Given the description of an element on the screen output the (x, y) to click on. 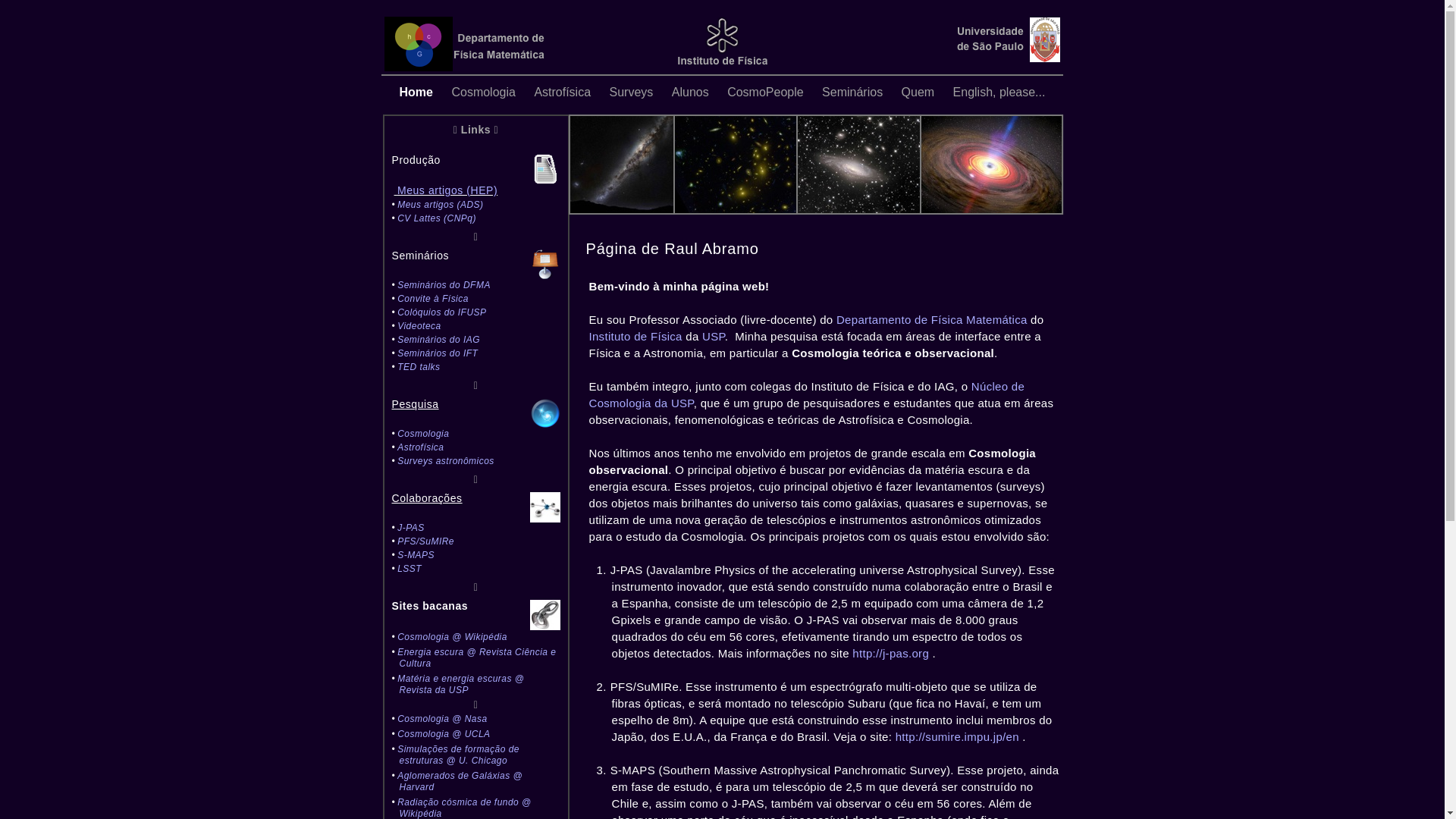
Quem Element type: text (919, 91)
USP Element type: text (713, 335)
http://sumire.impu.jp/en Element type: text (957, 736)
Meus artigos (HEP) Element type: text (447, 190)
Home Element type: text (417, 91)
Cosmologia @ UCLA Element type: text (443, 733)
Cosmologia Element type: text (422, 433)
English, please... Element type: text (999, 91)
Alunos Element type: text (691, 91)
Cosmologia Element type: text (484, 91)
CosmoPeople Element type: text (766, 91)
http://j-pas.org Element type: text (890, 652)
S-MAPS Element type: text (415, 554)
TED talks Element type: text (418, 366)
LSST Element type: text (409, 568)
J-PAS Element type: text (410, 527)
Videoteca Element type: text (418, 325)
Meus artigos (ADS) Element type: text (440, 204)
Cosmologia @ Nasa Element type: text (441, 718)
CV Lattes (CNPq) Element type: text (436, 218)
PFS/SuMIRe Element type: text (425, 541)
Surveys Element type: text (632, 91)
